Given the description of an element on the screen output the (x, y) to click on. 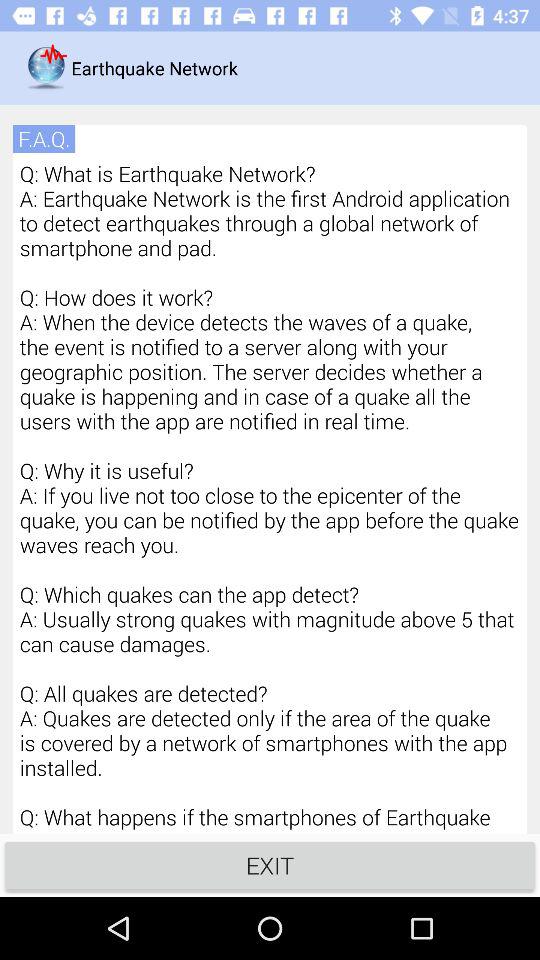
swipe until q what is item (269, 496)
